Given the description of an element on the screen output the (x, y) to click on. 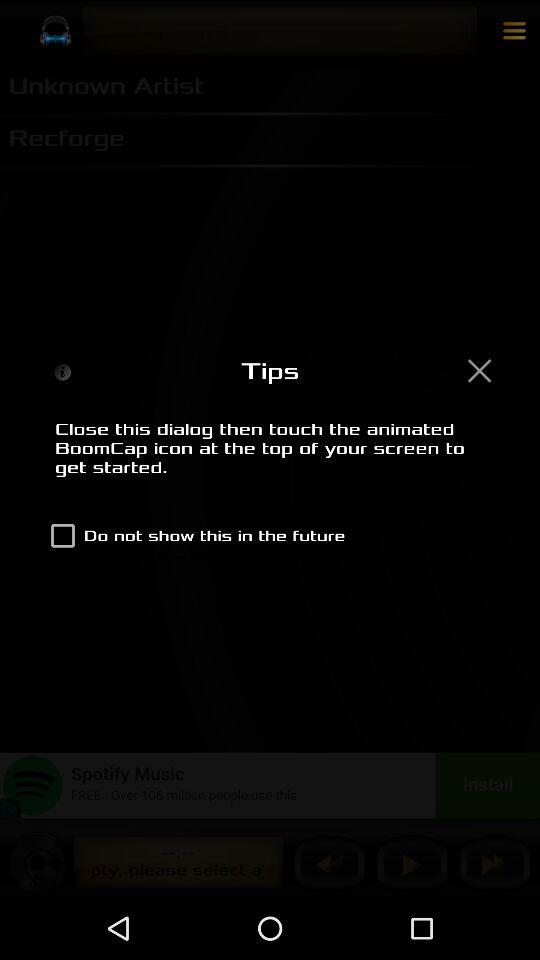
choose the close this dialog (269, 459)
